Given the description of an element on the screen output the (x, y) to click on. 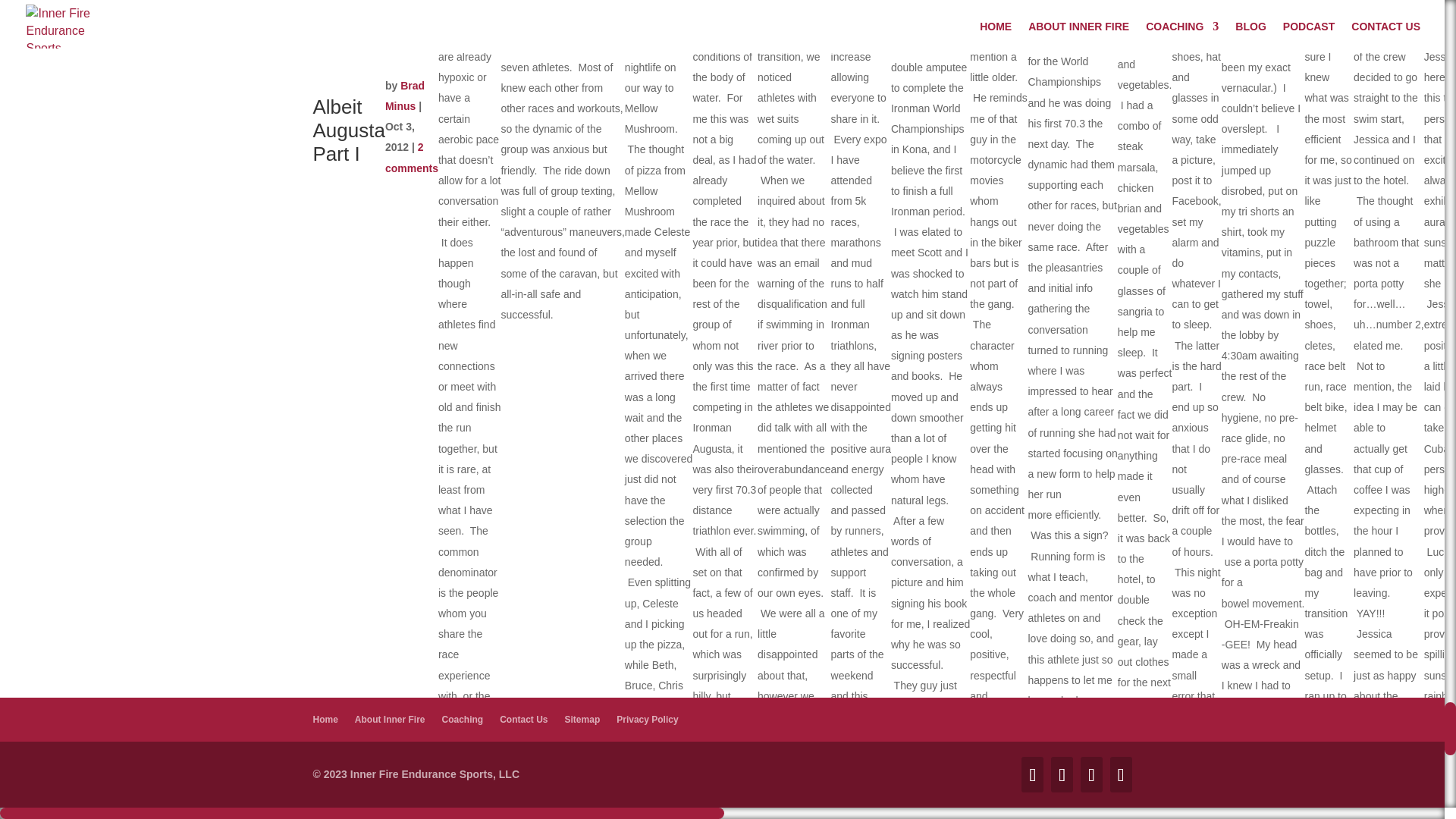
Posts by Brad Minus (405, 95)
